Given the description of an element on the screen output the (x, y) to click on. 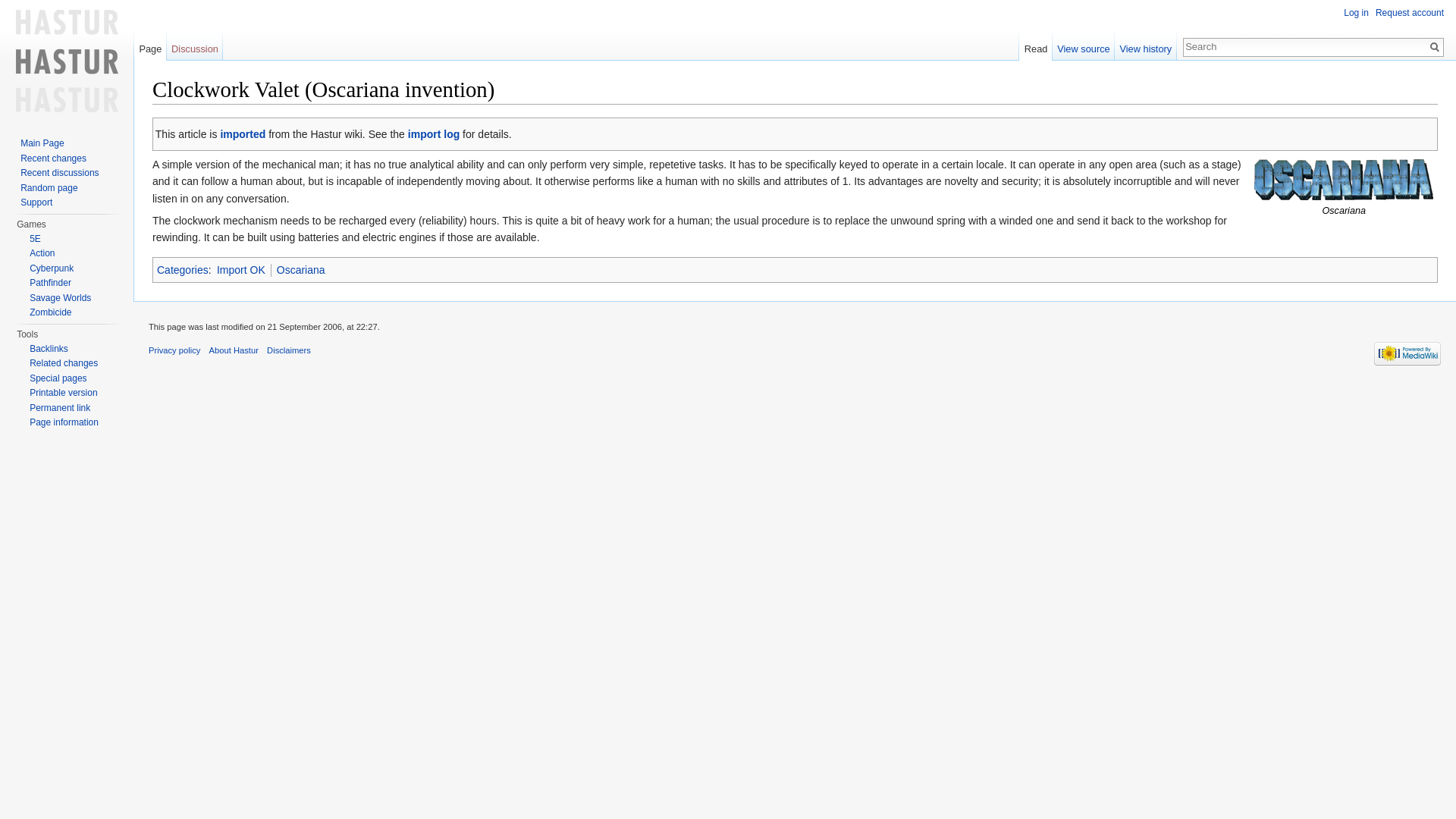
Discussion (195, 45)
View source (1083, 45)
Random page (48, 186)
Request account (1409, 12)
Pathfinder (50, 282)
import log (433, 133)
Zombicide (50, 312)
Backlinks (48, 347)
Visit the main page (66, 60)
